Given the description of an element on the screen output the (x, y) to click on. 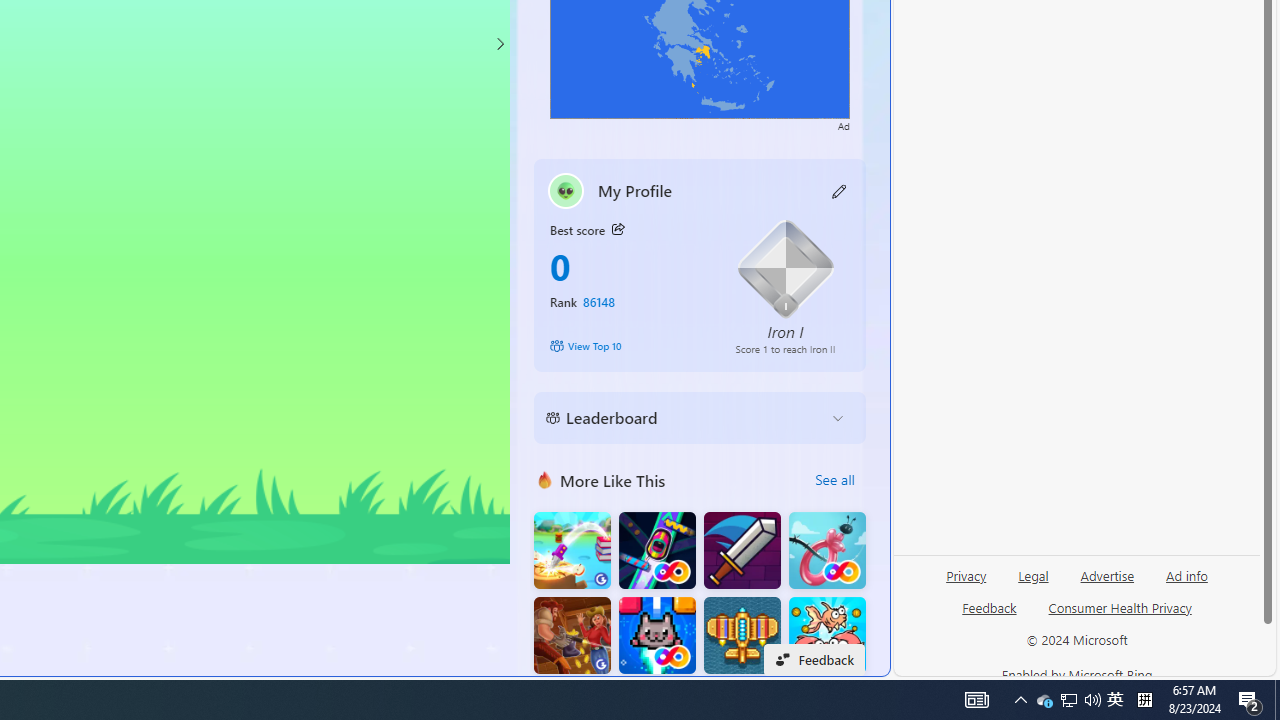
Bumper Car FRVR (657, 550)
Dungeon Master Knight (742, 550)
Class: button (617, 229)
Balloon FRVR (827, 550)
Class: button edit-icon (839, 190)
Kitten Force FRVR (657, 635)
Fish Merge FRVR (827, 635)
More Like This (544, 479)
""'s avatar (565, 190)
Class: control (499, 43)
